Given the description of an element on the screen output the (x, y) to click on. 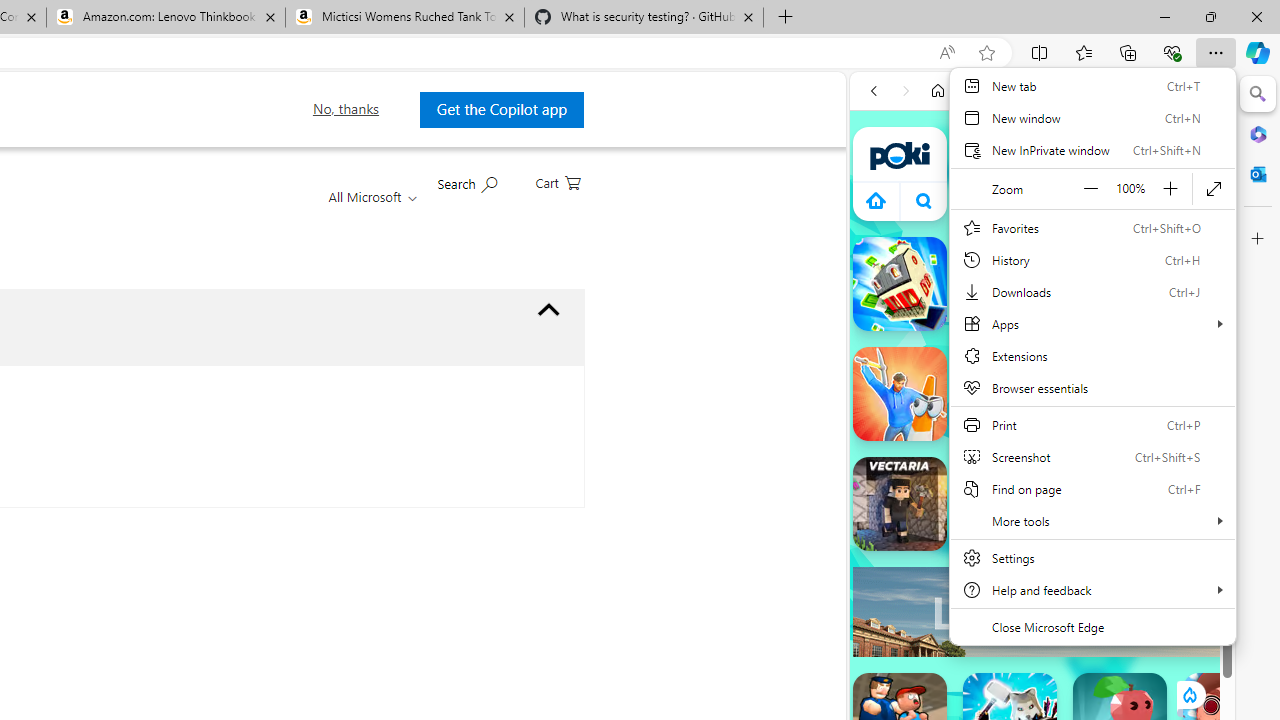
Downloads (1092, 291)
What product are you reporting on? no option selected (548, 309)
Two Player Games (1042, 568)
Stack City Stack City (899, 283)
Sports Games (1042, 665)
Find on page (1092, 488)
Io Games (1042, 616)
Search Microsoft.com (466, 182)
Class: B_5ykBA46kDOxiz_R9wm (923, 200)
___ (879, 577)
